Given the description of an element on the screen output the (x, y) to click on. 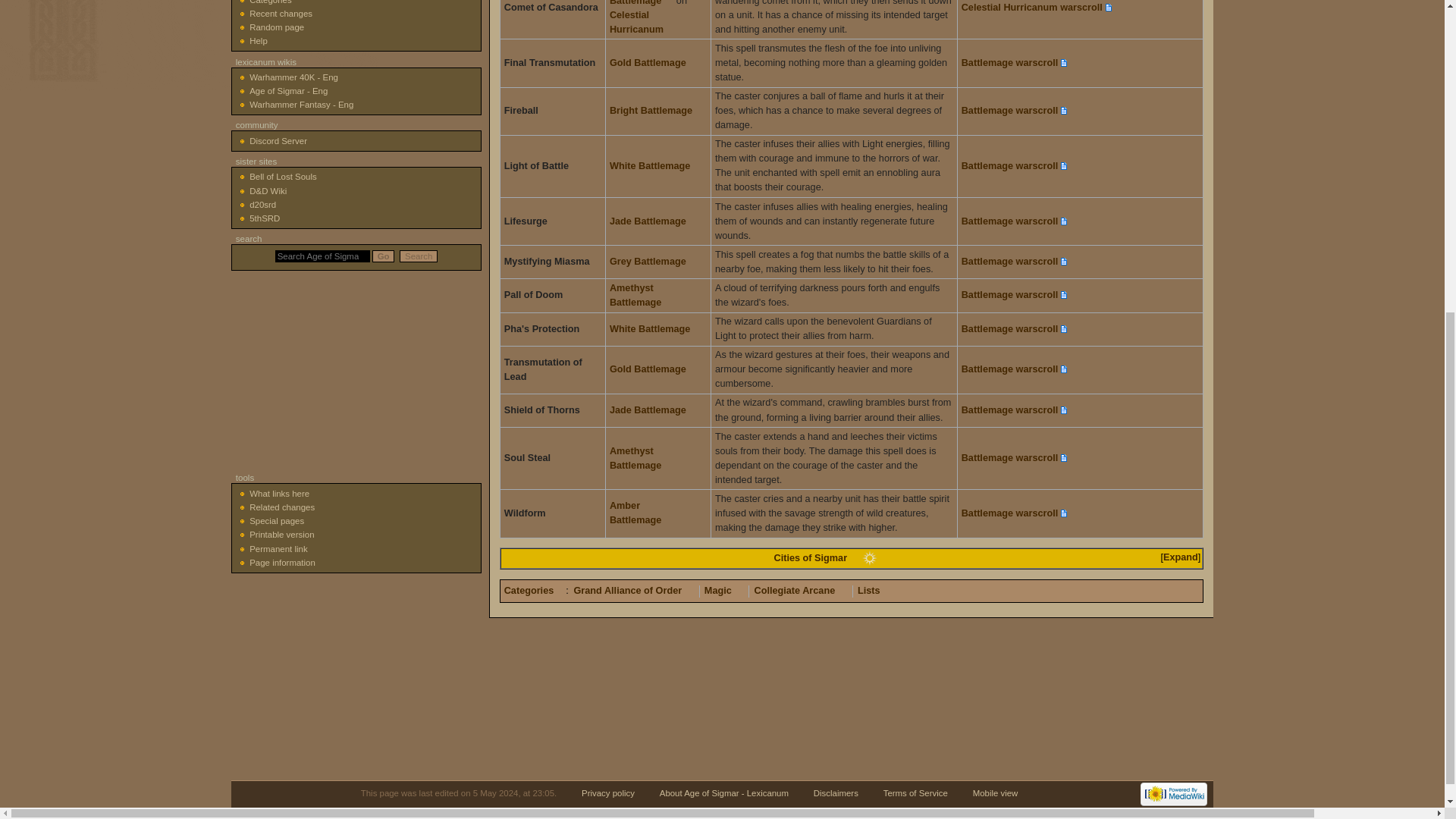
Grey Battlemage (654, 261)
Bright Battlemage (657, 110)
Jade Battlemage (654, 221)
Gold Battlemage (654, 62)
White Battlemage (655, 165)
Celestial Battlemage (641, 2)
Gold Battlemage (654, 368)
Grey Battlemage (654, 261)
Cities of Sigmar (816, 557)
Search (418, 256)
Amethyst Battlemage (641, 294)
White Battlemage (655, 328)
Jade Battlemage (654, 409)
Jade Battlemage (654, 221)
Search (418, 256)
